Given the description of an element on the screen output the (x, y) to click on. 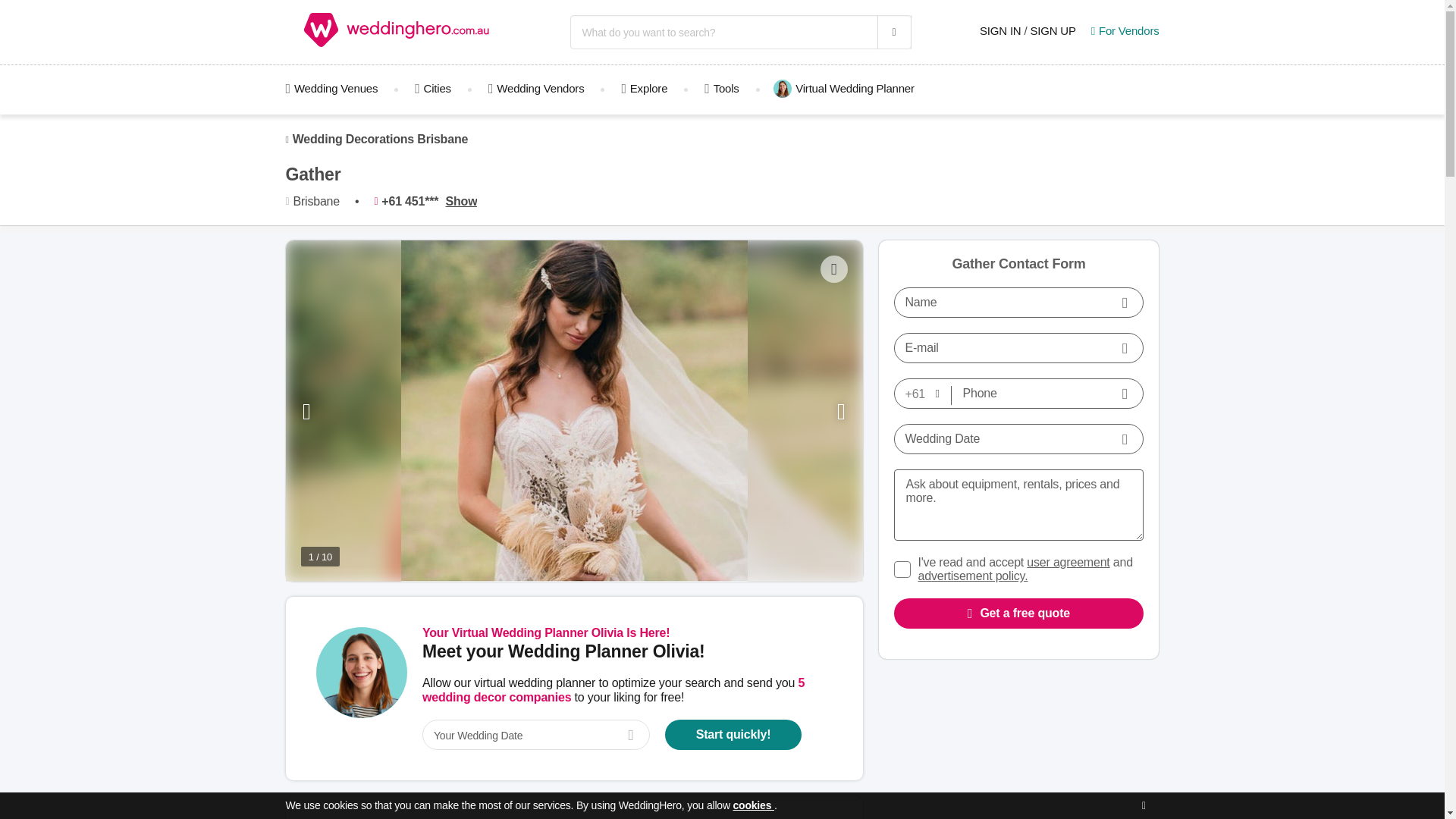
Wedding Vendors (536, 88)
Wedding Venues (339, 88)
Cities (432, 88)
WeddingHero.com.au (397, 32)
